Given the description of an element on the screen output the (x, y) to click on. 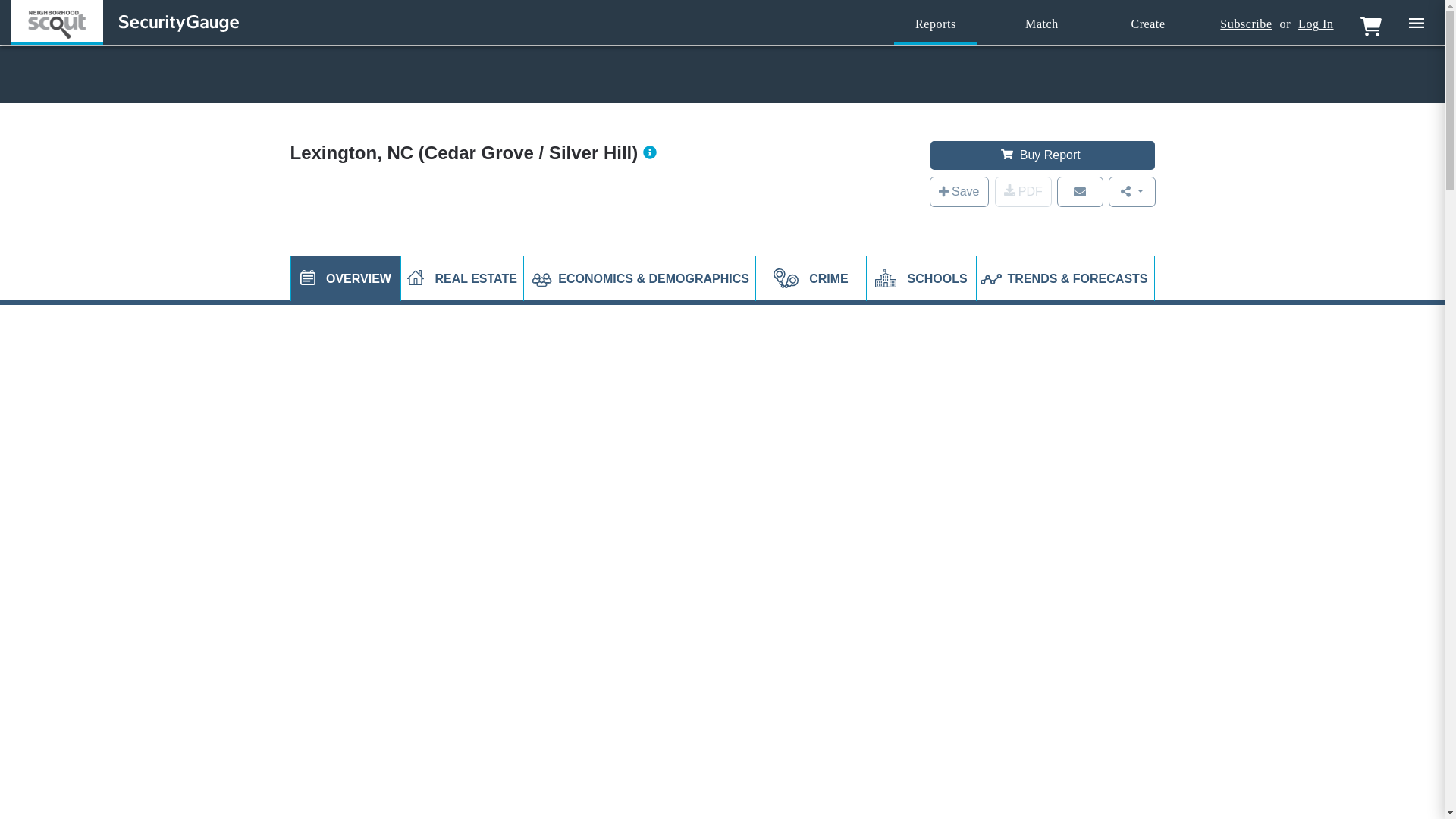
Subscribe (1245, 24)
Log In (1315, 24)
j (307, 277)
Match (1041, 24)
Reports (934, 24)
Create (1147, 24)
